Given the description of an element on the screen output the (x, y) to click on. 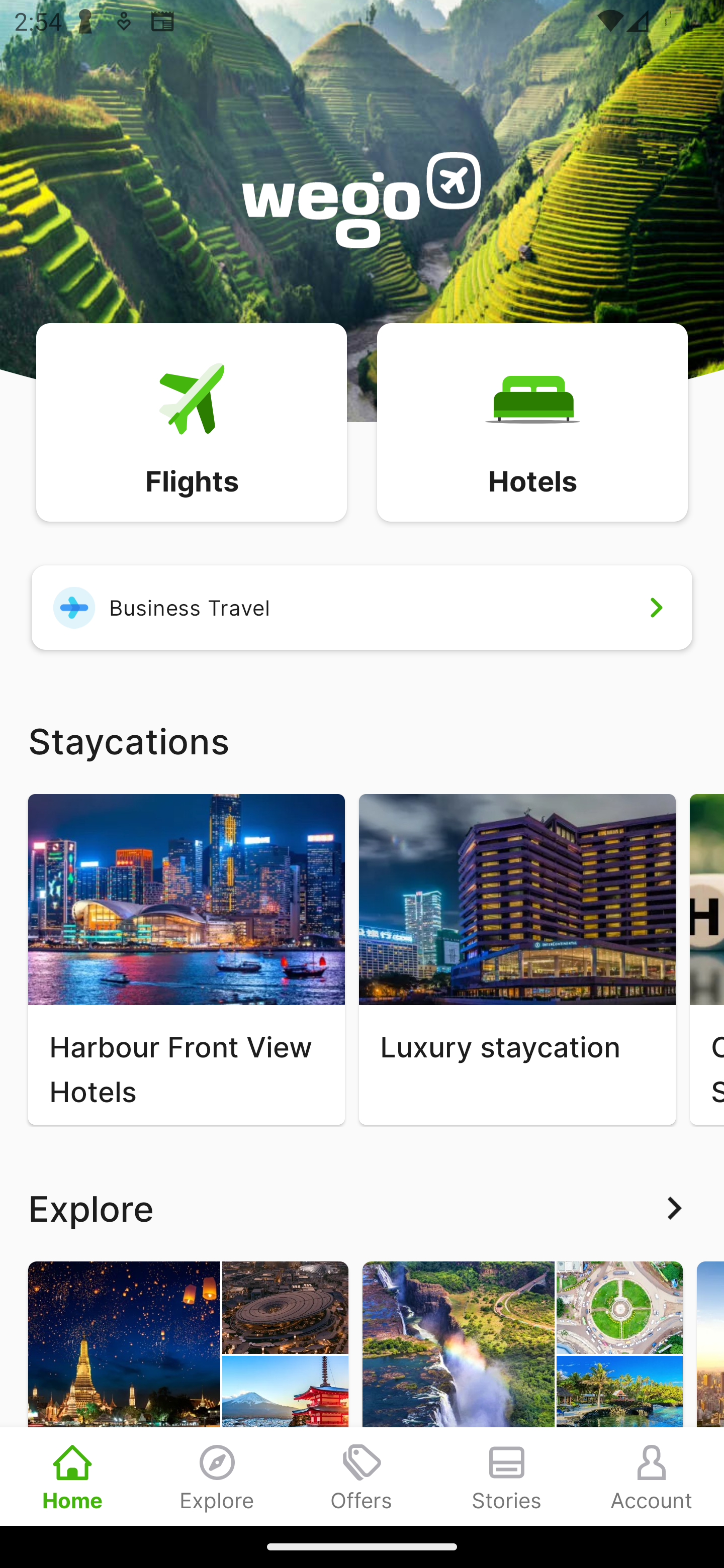
Flights (191, 420)
Hotels (532, 420)
Business Travel (361, 607)
Staycations (362, 739)
Harbour Front View Hotels (186, 958)
Luxury staycation (517, 958)
Explore (362, 1207)
Popular Destinations (188, 1392)
Visa-free Countries (522, 1392)
Explore (216, 1475)
Offers (361, 1475)
Stories (506, 1475)
Account (651, 1475)
